Given the description of an element on the screen output the (x, y) to click on. 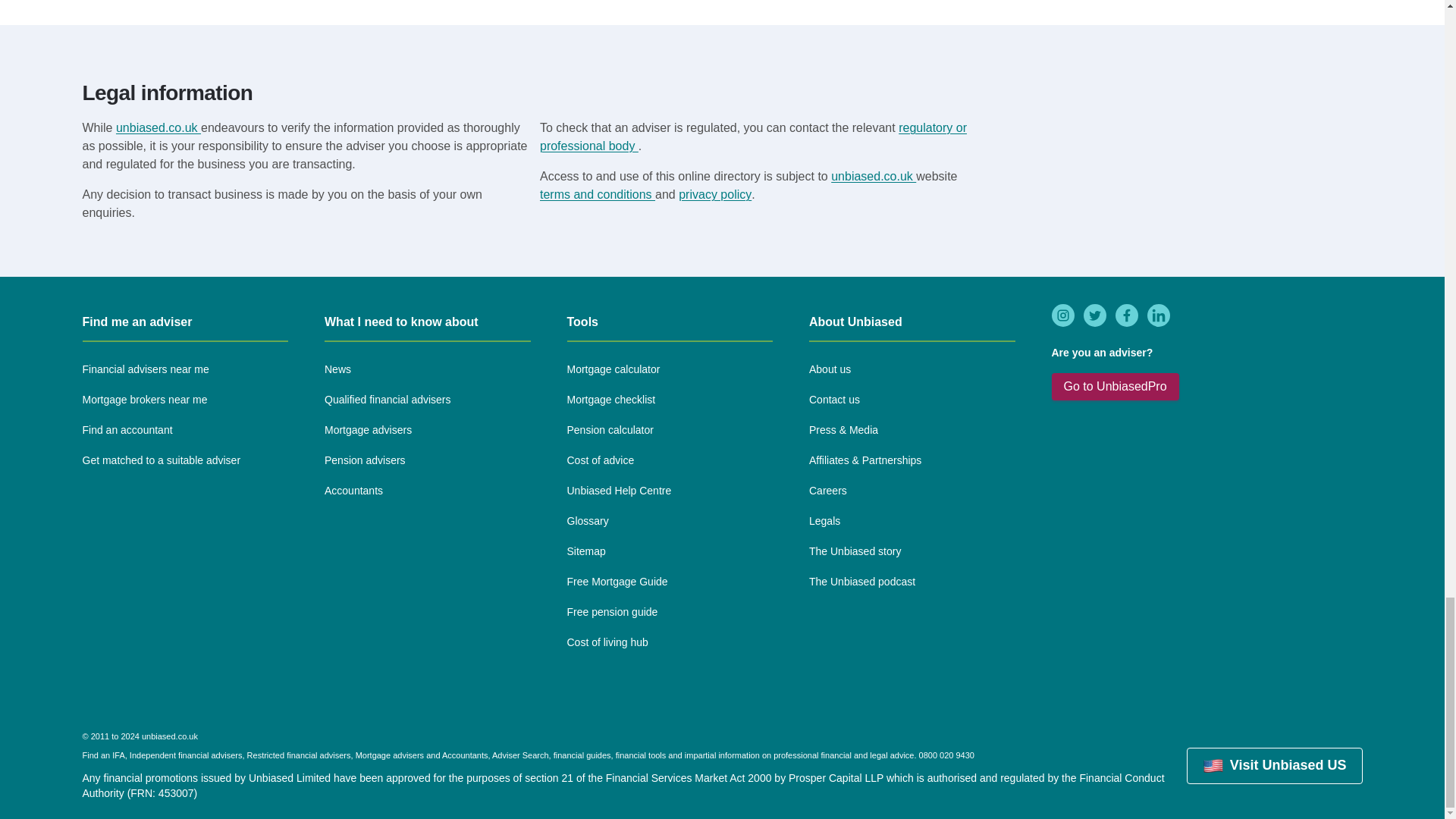
Get matched to a suitable adviser (160, 460)
News (337, 369)
unbiased.co.uk (873, 175)
Financial advisers near me (144, 369)
Find an accountant (126, 430)
privacy policy (714, 194)
unbiased.co.uk (158, 127)
Qualified financial advisers (387, 400)
regulatory or professional body (753, 136)
terms and conditions (597, 194)
